Given the description of an element on the screen output the (x, y) to click on. 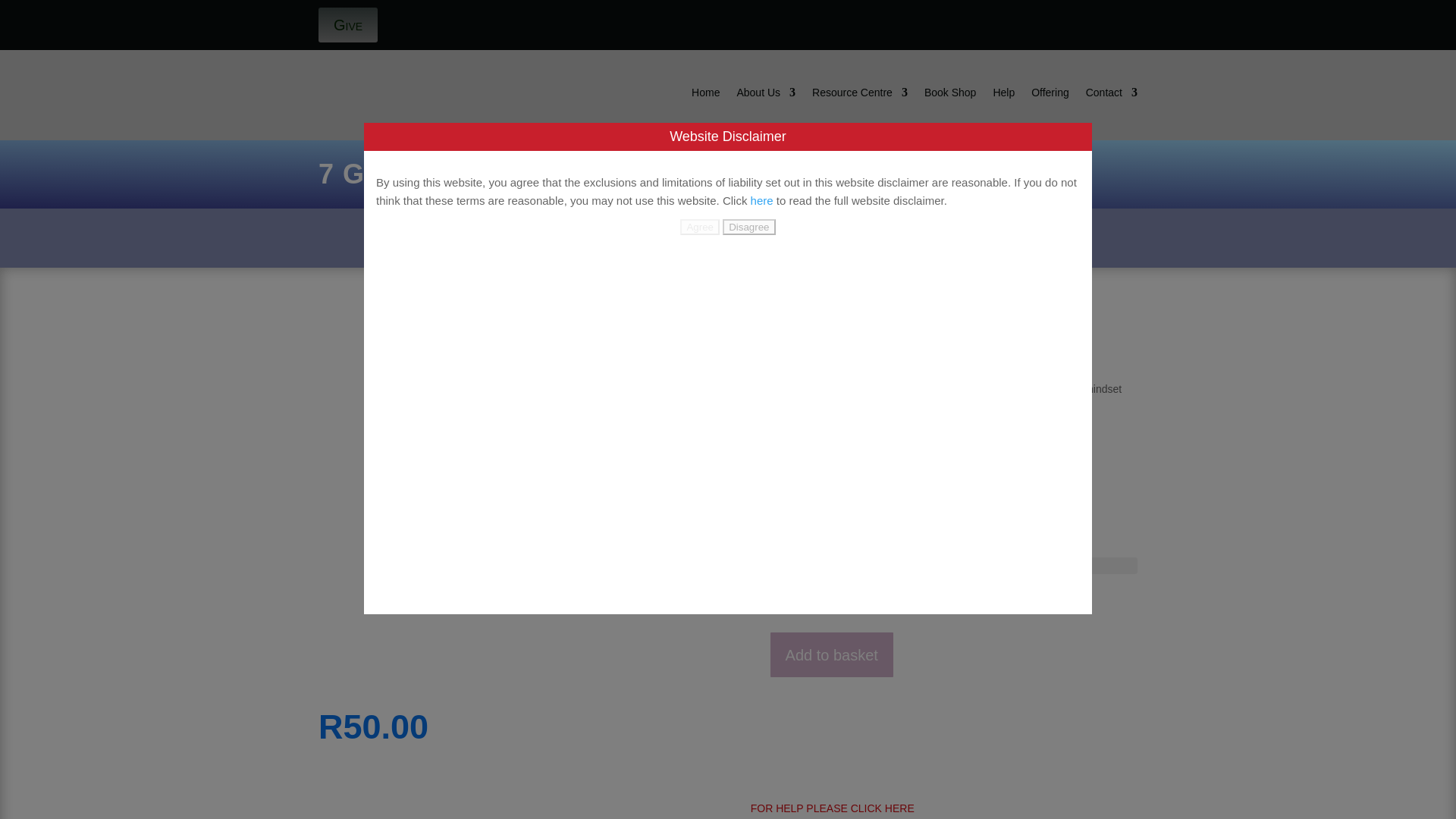
Disagree (748, 227)
Agree (699, 227)
Offering (1049, 95)
Give (347, 24)
Contact (1111, 95)
FOR HELP PLEASE CLICK HERE (832, 808)
Resource Centre (859, 95)
Agree (699, 227)
About Us (765, 95)
here (762, 200)
